Given the description of an element on the screen output the (x, y) to click on. 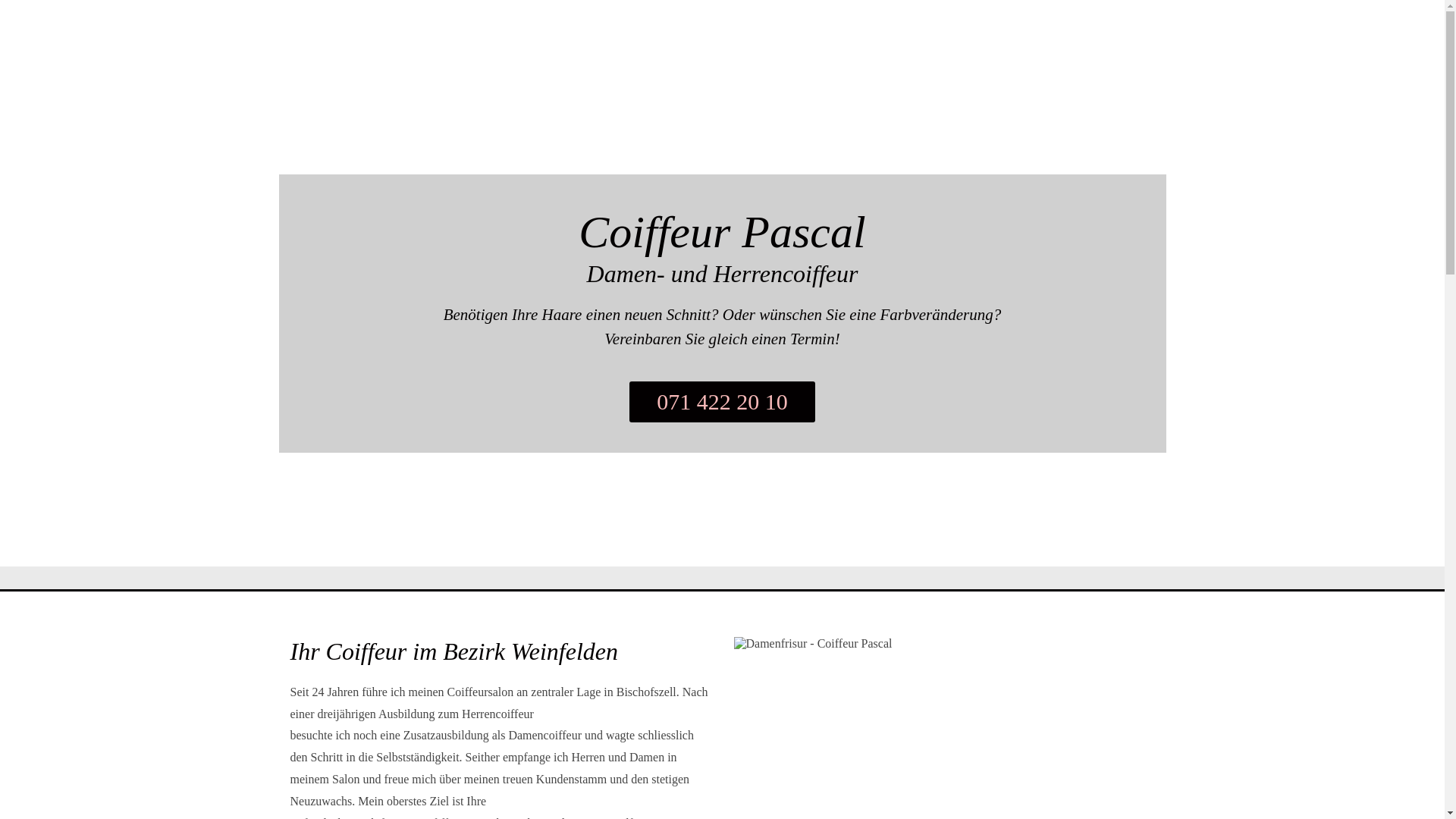
071 422 20 10 Element type: text (722, 401)
